Given the description of an element on the screen output the (x, y) to click on. 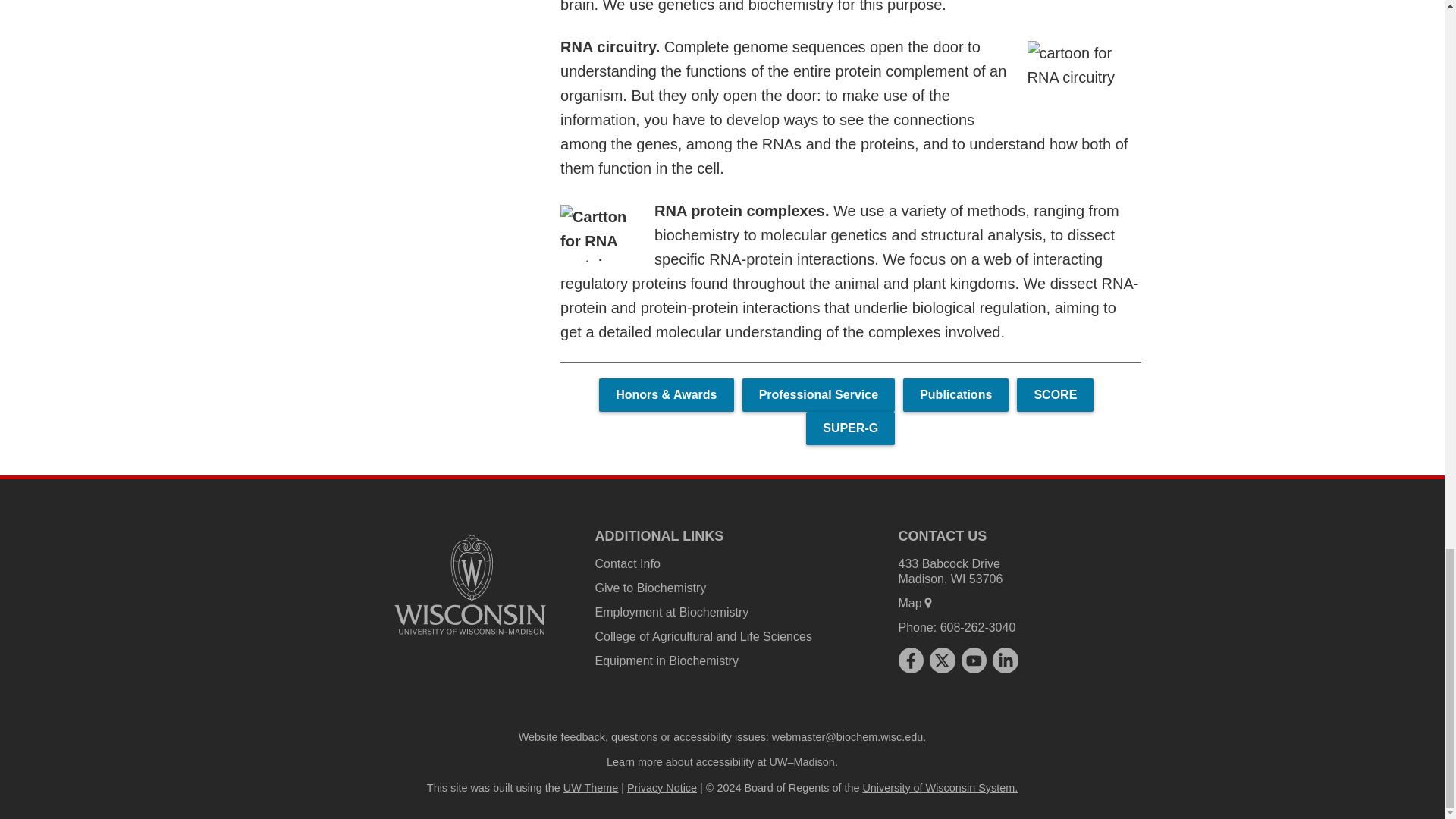
Professional Service (818, 394)
map marker (927, 603)
facebook (910, 660)
linkedin (1005, 660)
SUPER-G (850, 428)
SCORE (1054, 394)
x twitter (941, 660)
Publications (955, 394)
University logo that links to main university website (470, 636)
University logo that links to main university website (470, 584)
youtube (973, 660)
